Given the description of an element on the screen output the (x, y) to click on. 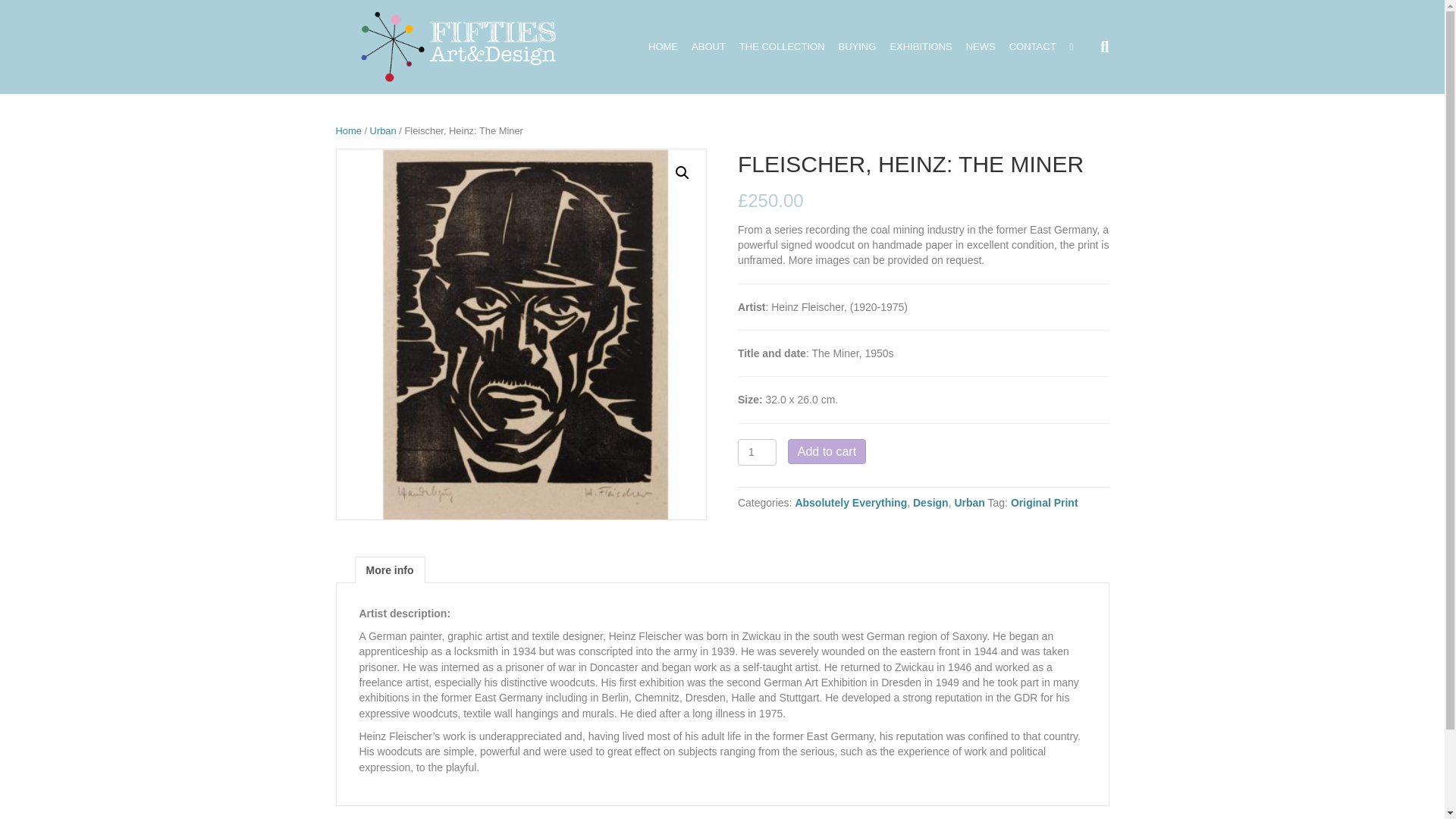
CONTACT (1032, 46)
Urban (382, 130)
EXHIBITIONS (920, 46)
More info (389, 570)
Add to cart (826, 451)
Urban (968, 502)
BUYING (857, 46)
Design (930, 502)
ABOUT (708, 46)
Home (347, 130)
